Given the description of an element on the screen output the (x, y) to click on. 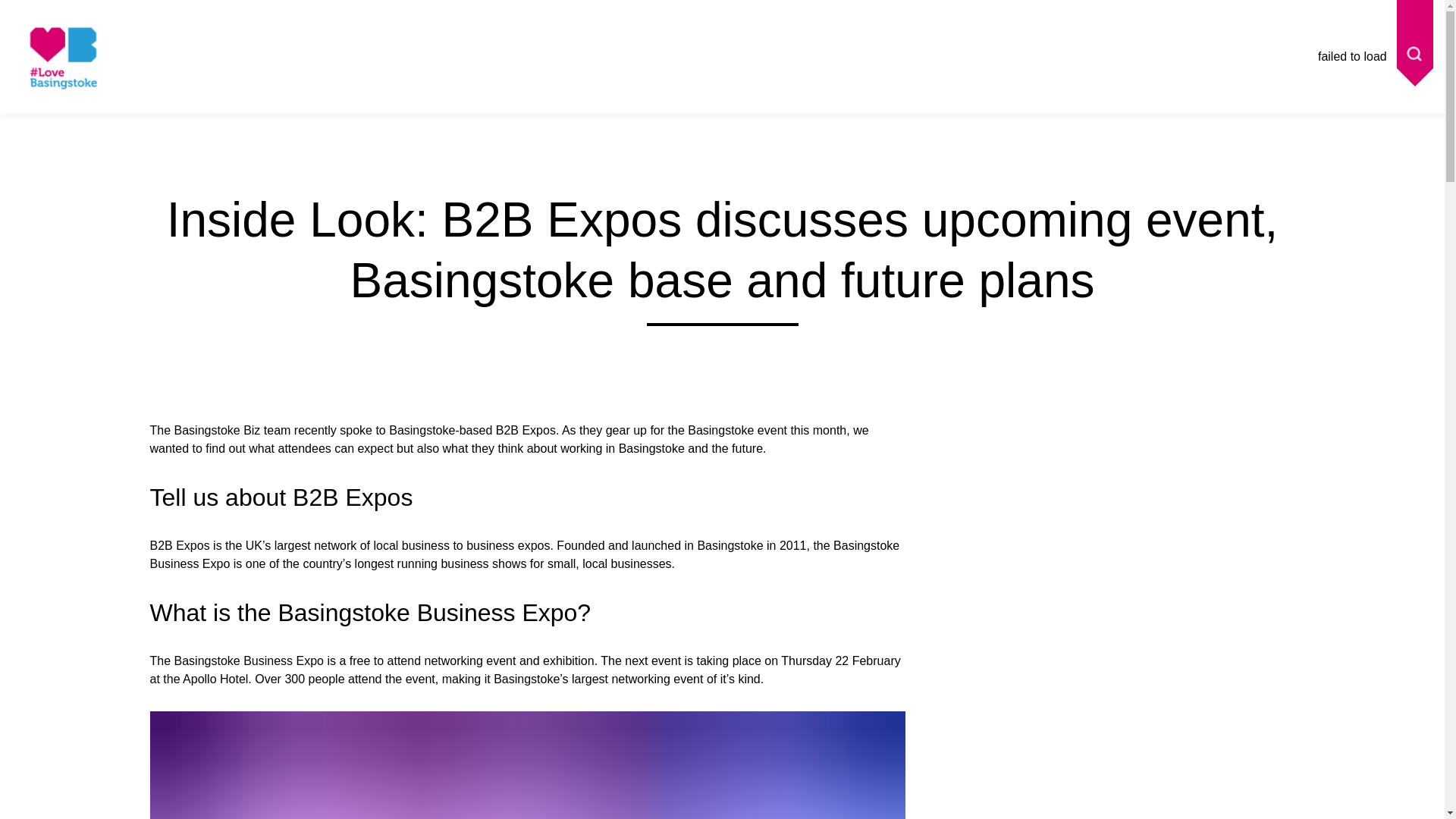
Love Basingstoke - Link to homepage (61, 86)
